Given the description of an element on the screen output the (x, y) to click on. 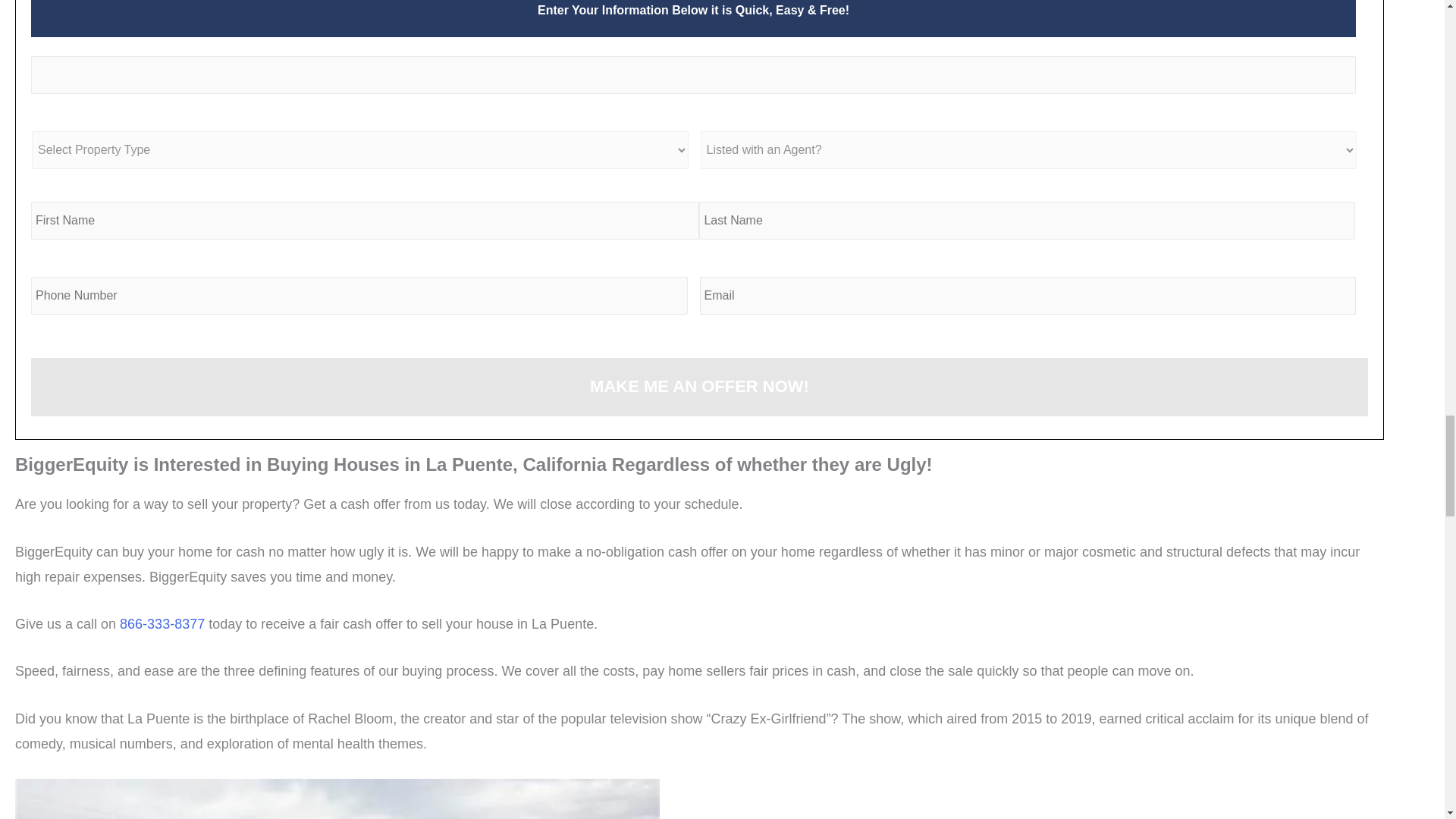
MAKE ME AN OFFER NOW! (699, 386)
866-333-8377 (162, 623)
MAKE ME AN OFFER NOW! (699, 386)
